Given the description of an element on the screen output the (x, y) to click on. 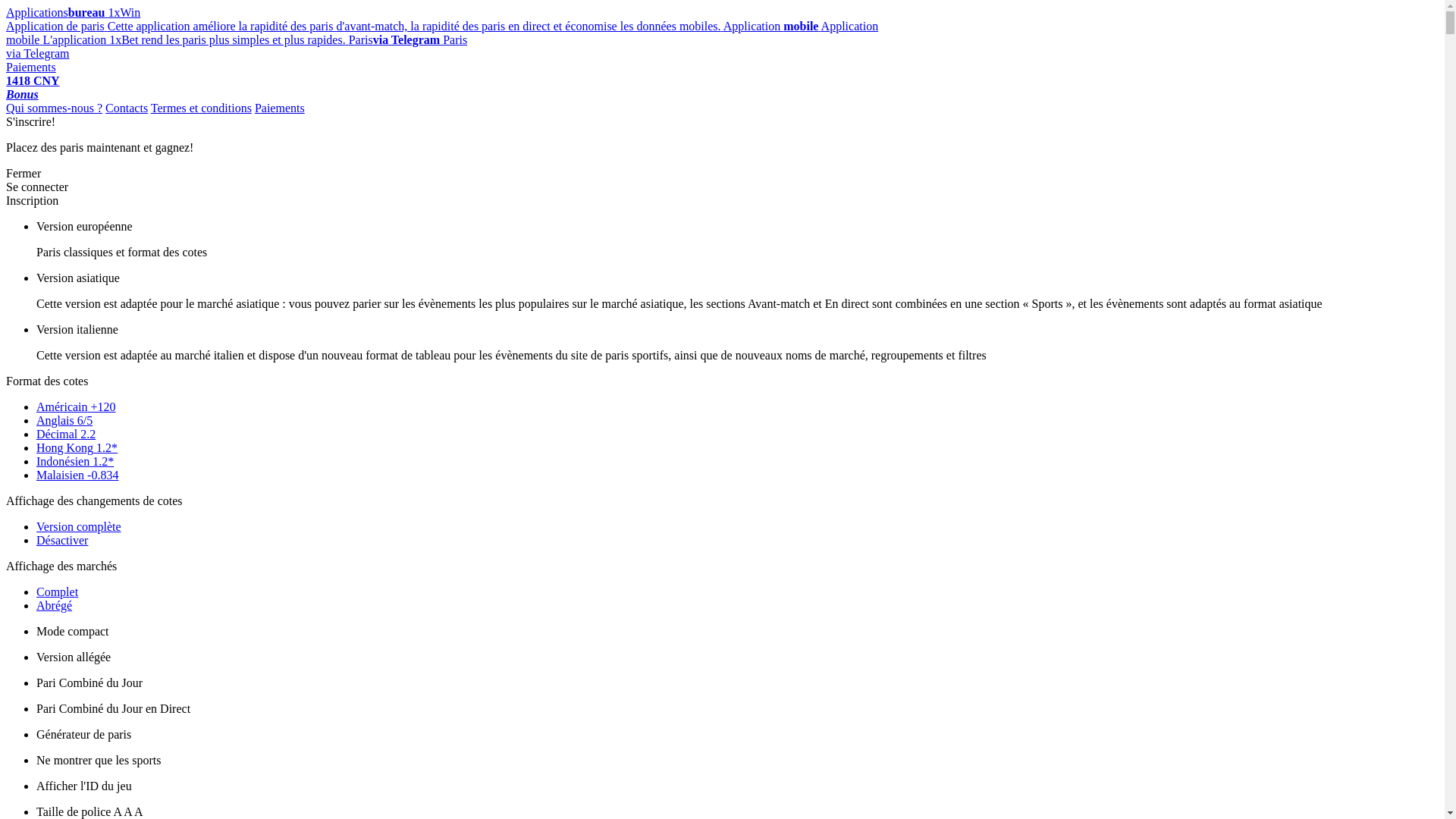
Anglais 6/5 Element type: text (64, 420)
Complet Element type: text (57, 591)
1418 CNY
Bonus Element type: text (32, 87)
Paiements Element type: text (31, 66)
Paiements Element type: text (279, 107)
Malaisien -0.834 Element type: text (77, 474)
Qui sommes-nous ? Element type: text (54, 107)
Hong Kong 1.2* Element type: text (76, 447)
Contacts Element type: text (126, 107)
Termes et conditions Element type: text (200, 107)
Inscription Element type: text (32, 200)
Parisvia Telegram Paris
via Telegram Element type: text (236, 46)
